Given the description of an element on the screen output the (x, y) to click on. 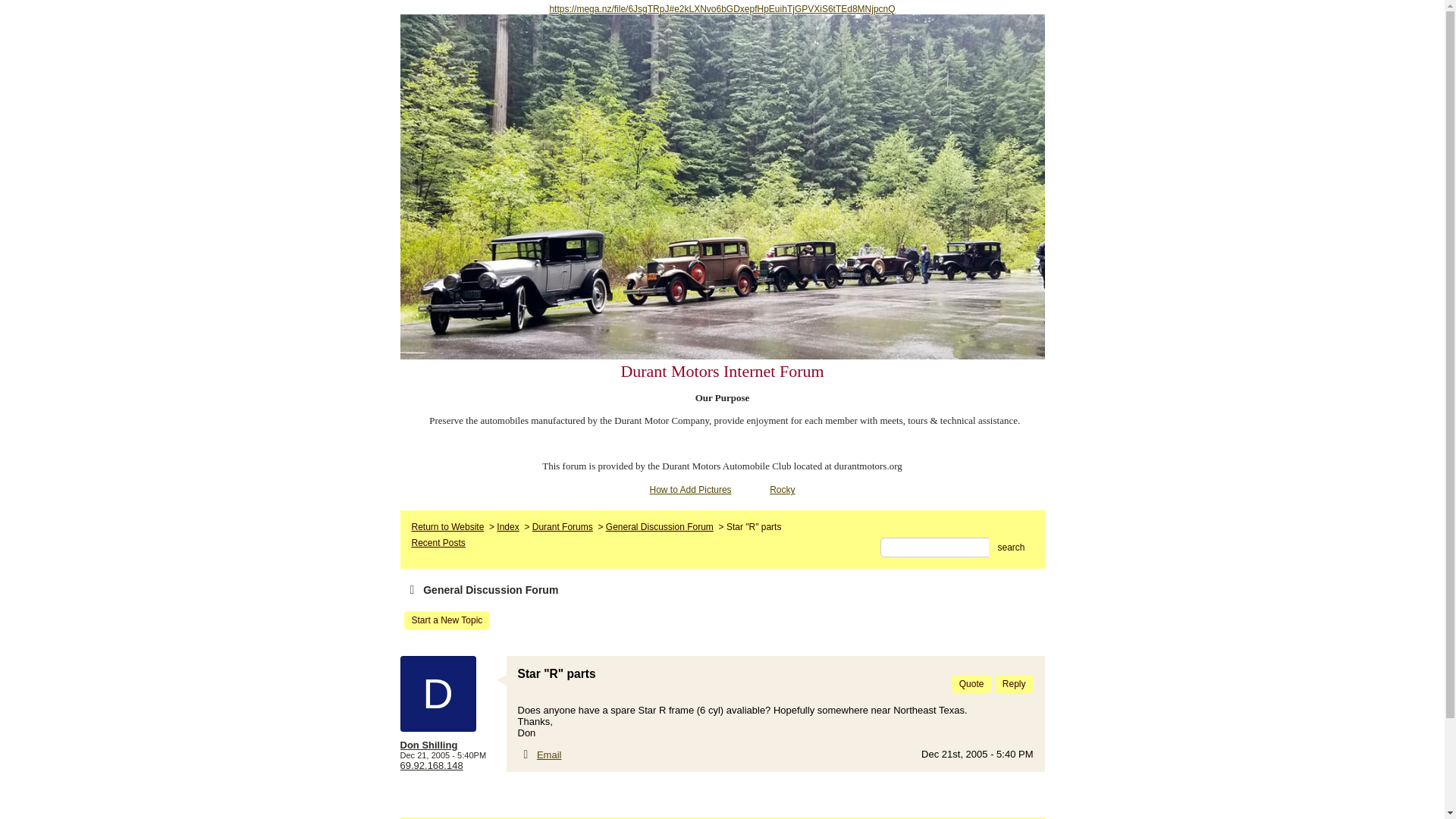
Reply (1013, 683)
69.92.168.148 (431, 765)
Durant Forums (562, 526)
How to Add Pictures (689, 489)
Start a New Topic (446, 619)
Return to Website (446, 526)
Recent Posts (437, 542)
Email (549, 754)
Index (507, 526)
Quote (971, 683)
